Given the description of an element on the screen output the (x, y) to click on. 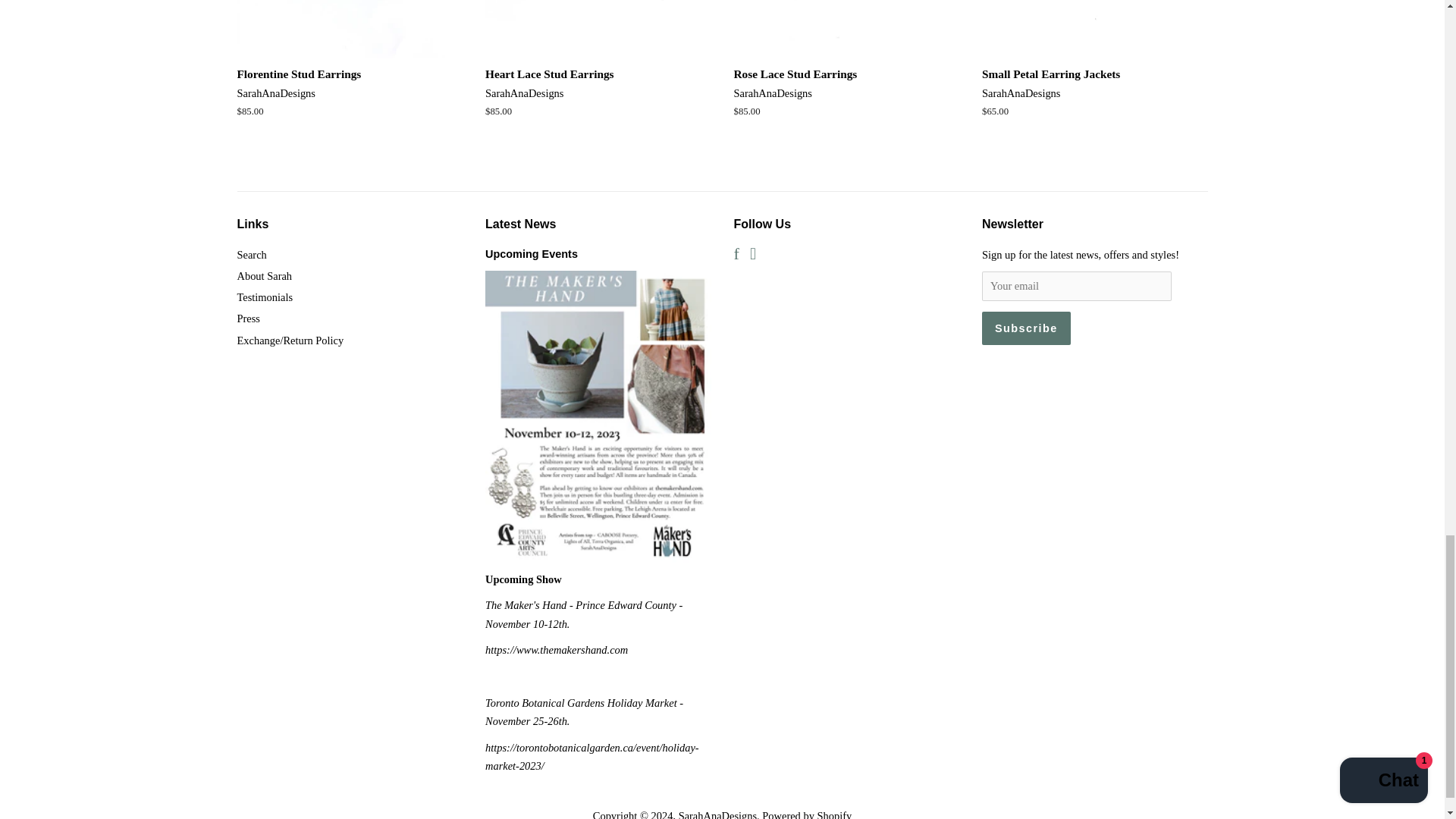
Search (250, 254)
Subscribe (1025, 328)
About Sarah (263, 275)
